Given the description of an element on the screen output the (x, y) to click on. 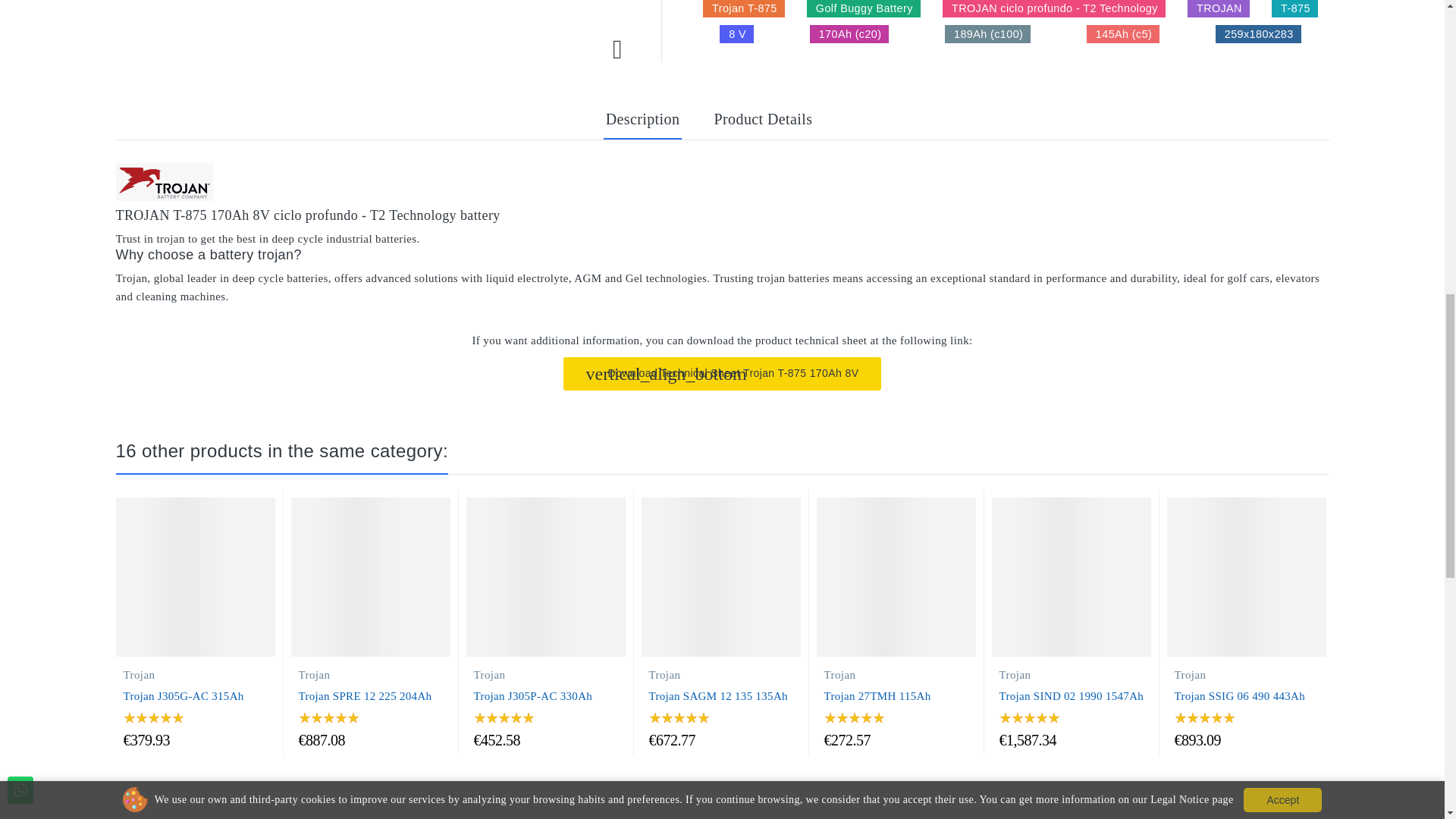
Download Technical Sheet Trojan T-875 170Ah 8V (722, 373)
